Given the description of an element on the screen output the (x, y) to click on. 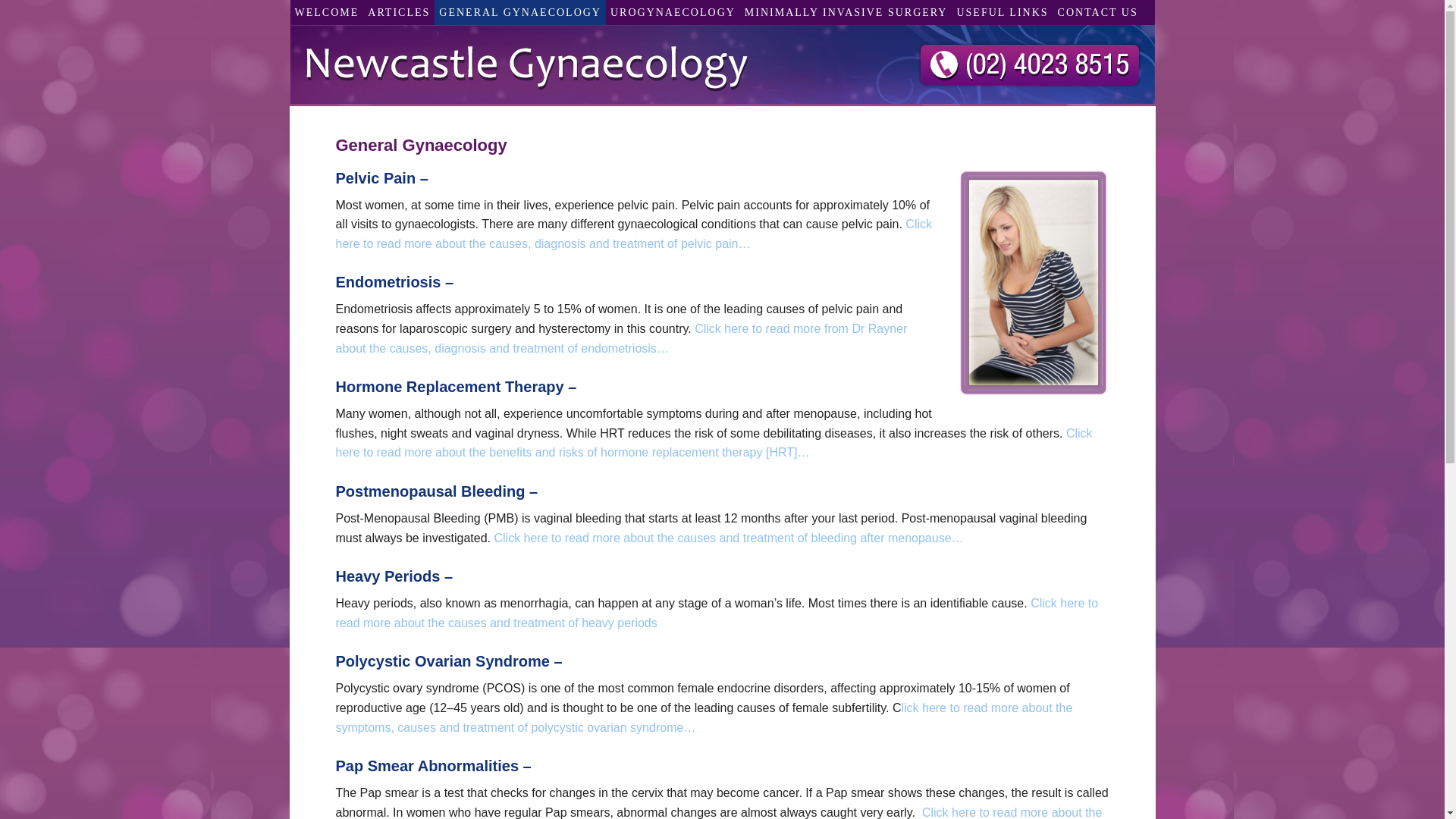
GENERAL GYNAECOLOGY Element type: text (519, 12)
WELCOME Element type: text (326, 12)
CONTACT US Element type: text (1097, 12)
MINIMALLY INVASIVE SURGERY Element type: text (846, 12)
UROGYNAECOLOGY Element type: text (672, 12)
ARTICLES Element type: text (398, 12)
USEFUL LINKS Element type: text (1001, 12)
